Given the description of an element on the screen output the (x, y) to click on. 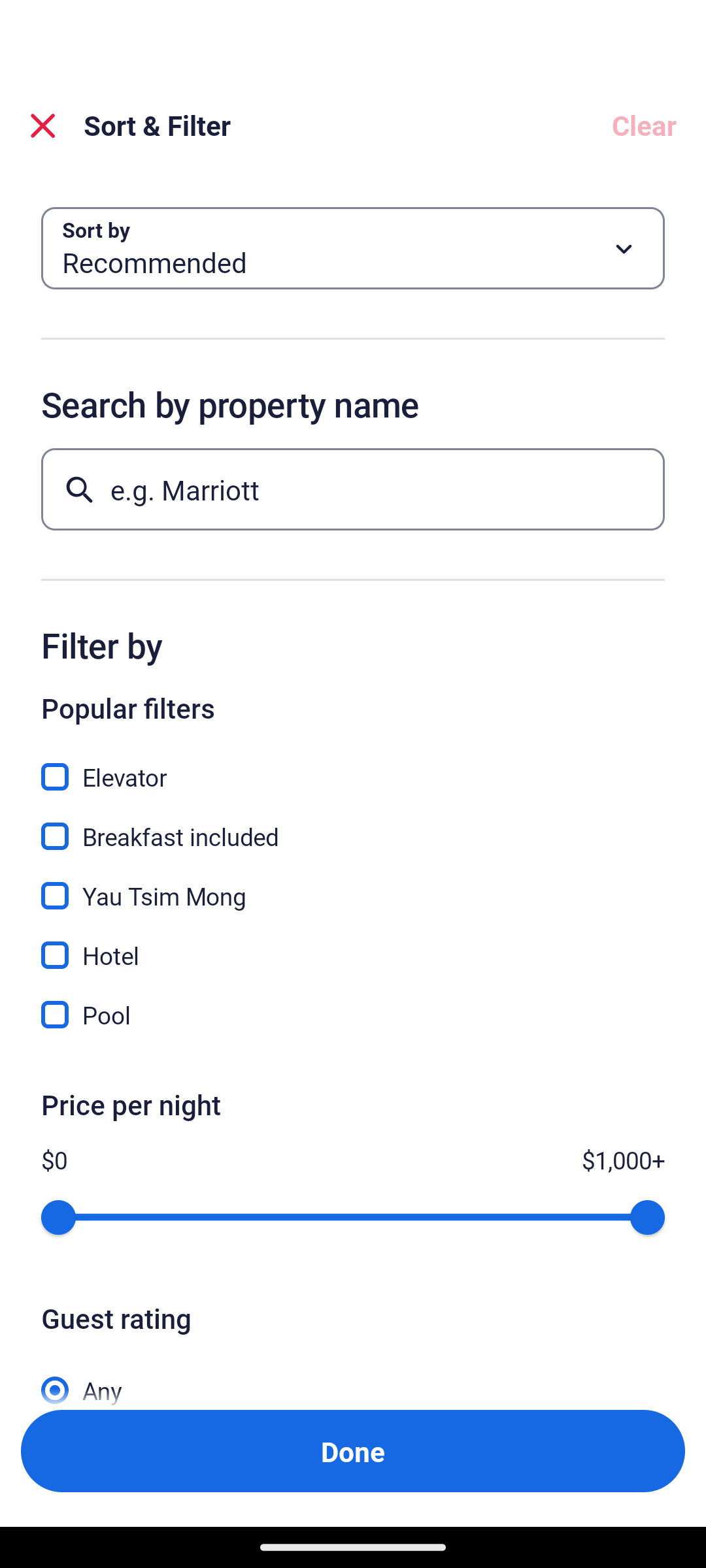
Clear (643, 125)
Close Sort and Filter (43, 125)
Sort by Button Recommended (352, 248)
e.g. Marriott Button (352, 488)
Elevator, Elevator (352, 765)
Breakfast included, Breakfast included (352, 824)
Yau Tsim Mong, Yau Tsim Mong (352, 884)
Hotel, Hotel (352, 943)
Pool, Pool (352, 1014)
Apply and close Sort and Filter Done (352, 1450)
